Given the description of an element on the screen output the (x, y) to click on. 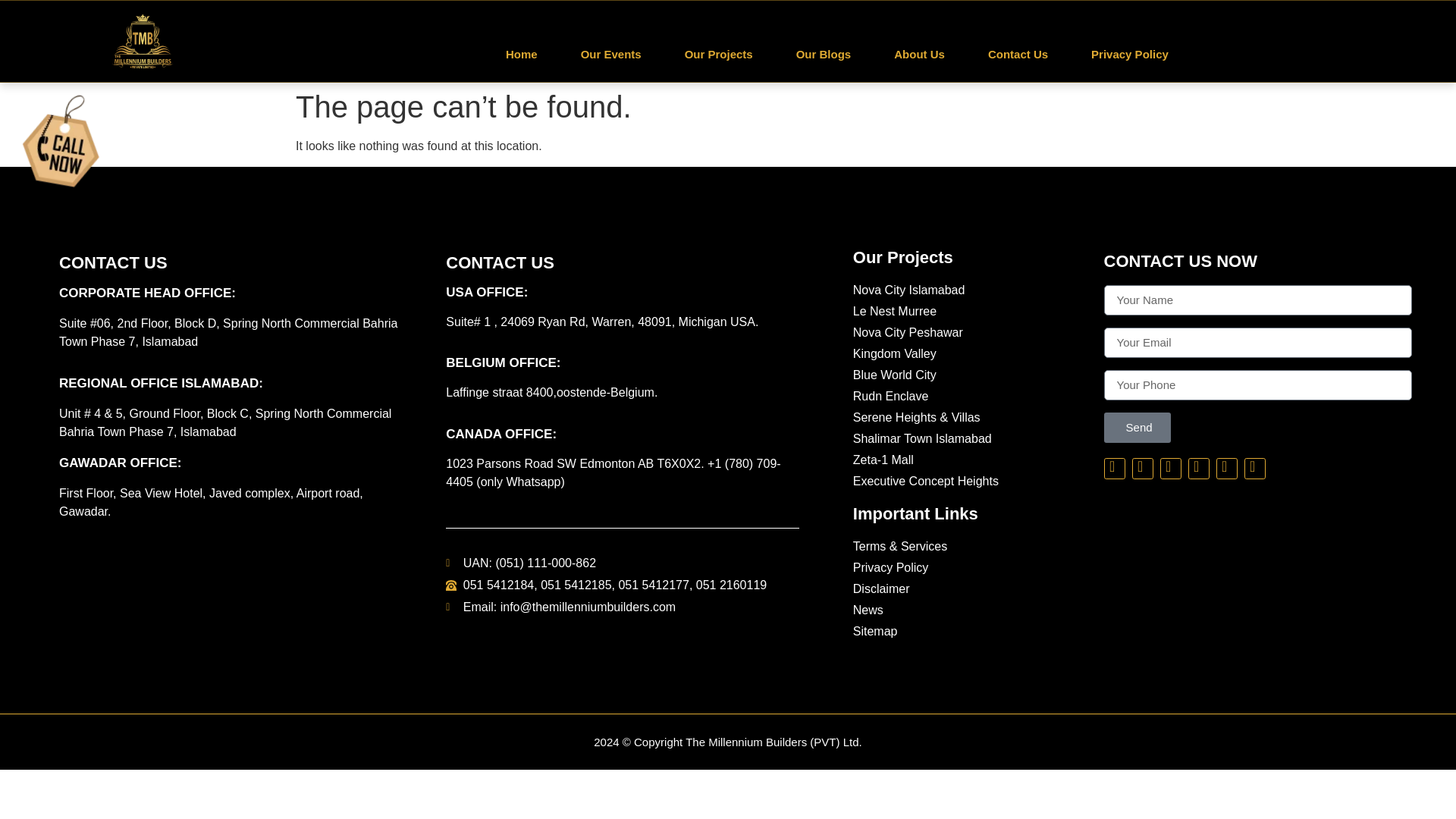
Privacy Policy (1130, 54)
Home (521, 54)
Our Blogs (823, 54)
Contact Us (1018, 54)
Our Events (611, 54)
Our Projects (718, 54)
About Us (918, 54)
